Given the description of an element on the screen output the (x, y) to click on. 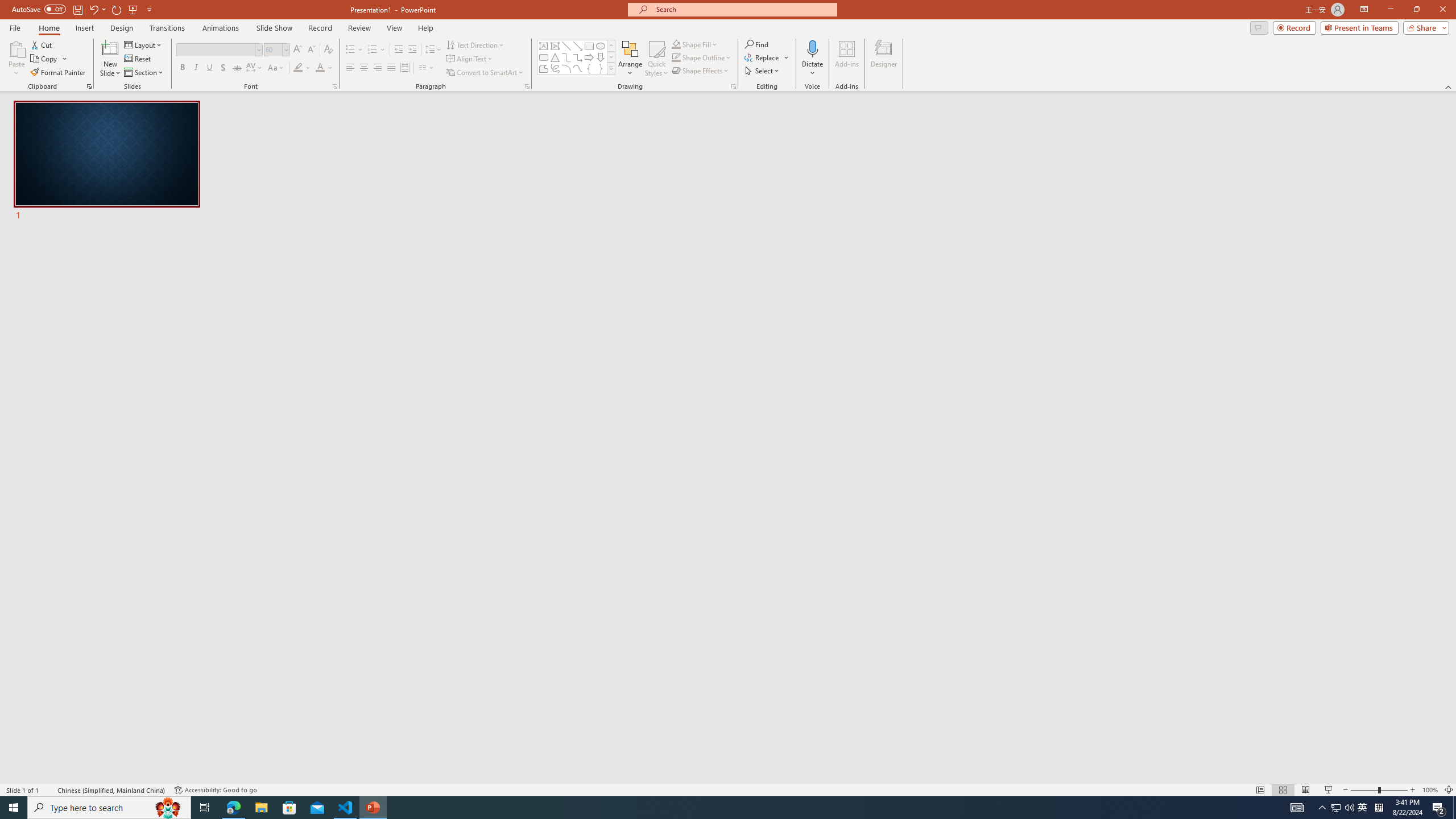
Spell Check  (49, 790)
